Given the description of an element on the screen output the (x, y) to click on. 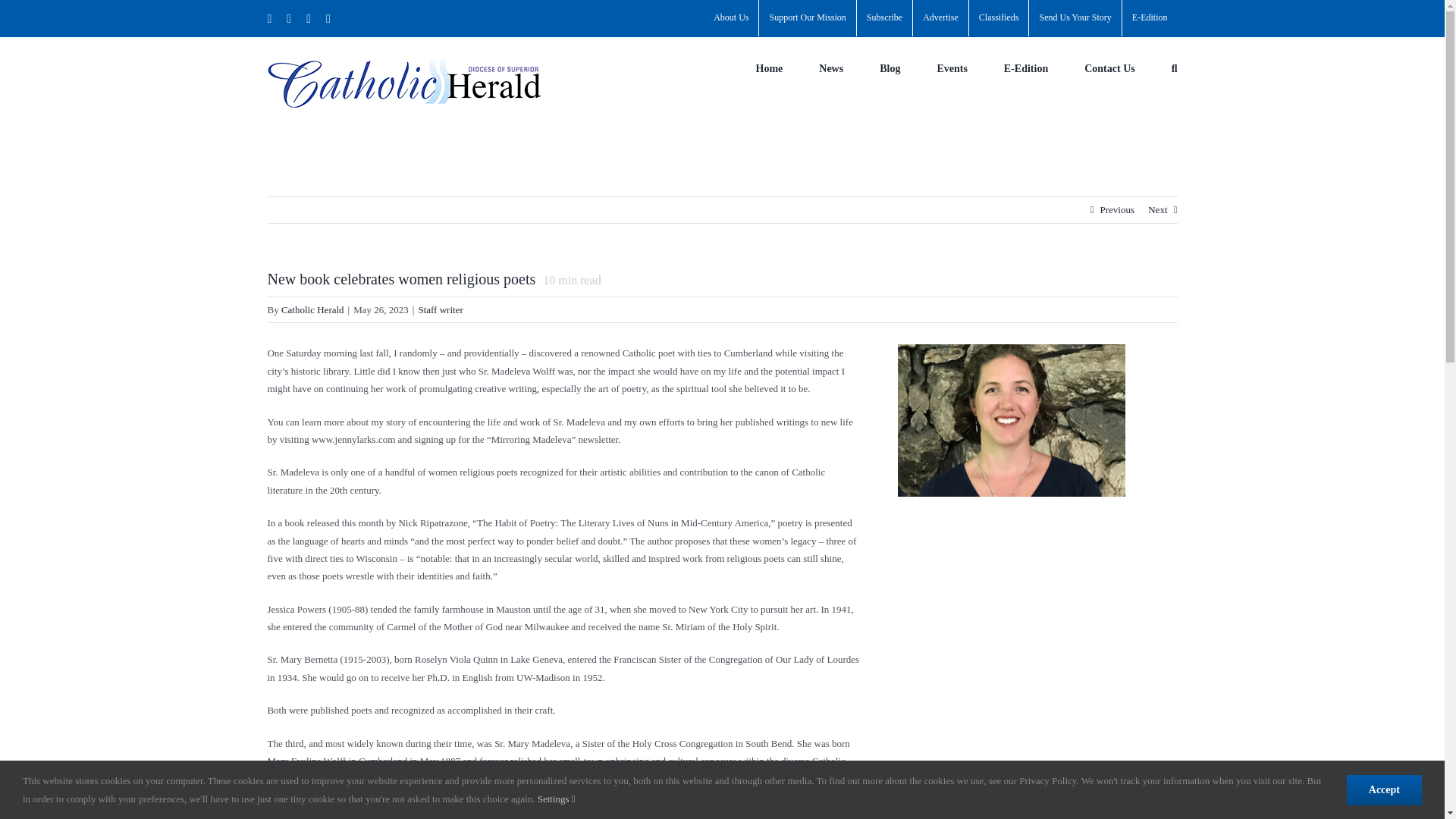
Advertise (940, 18)
About Us (730, 18)
Posts by Catholic Herald (312, 309)
Subscribe (884, 18)
JENNY-SNARSKI-600-400 (1011, 419)
Send Us Your Story (1075, 18)
Support Our Mission (807, 18)
Classifieds (999, 18)
E-Edition (1149, 18)
